Given the description of an element on the screen output the (x, y) to click on. 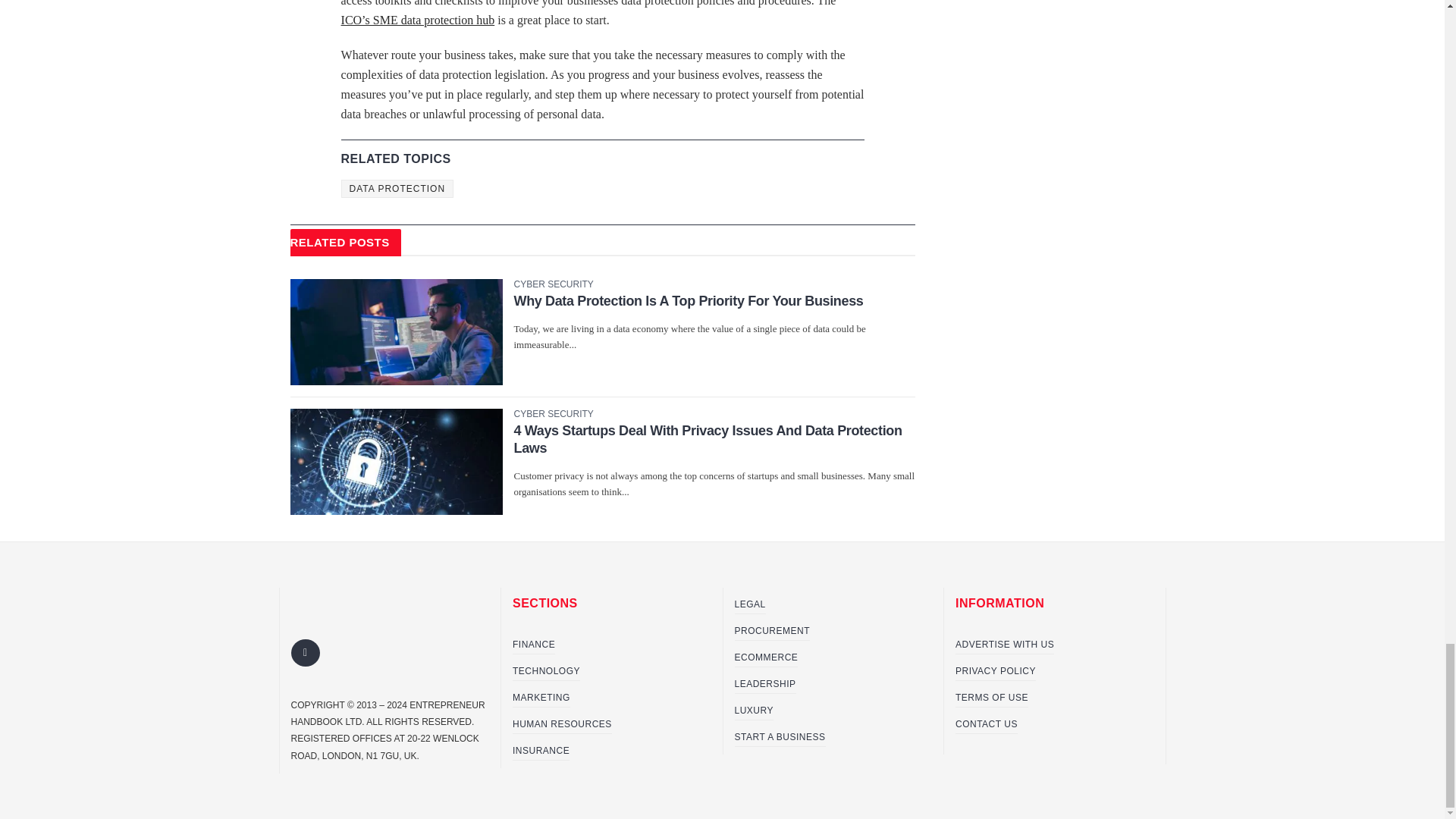
DATA PROTECTION (397, 188)
